Given the description of an element on the screen output the (x, y) to click on. 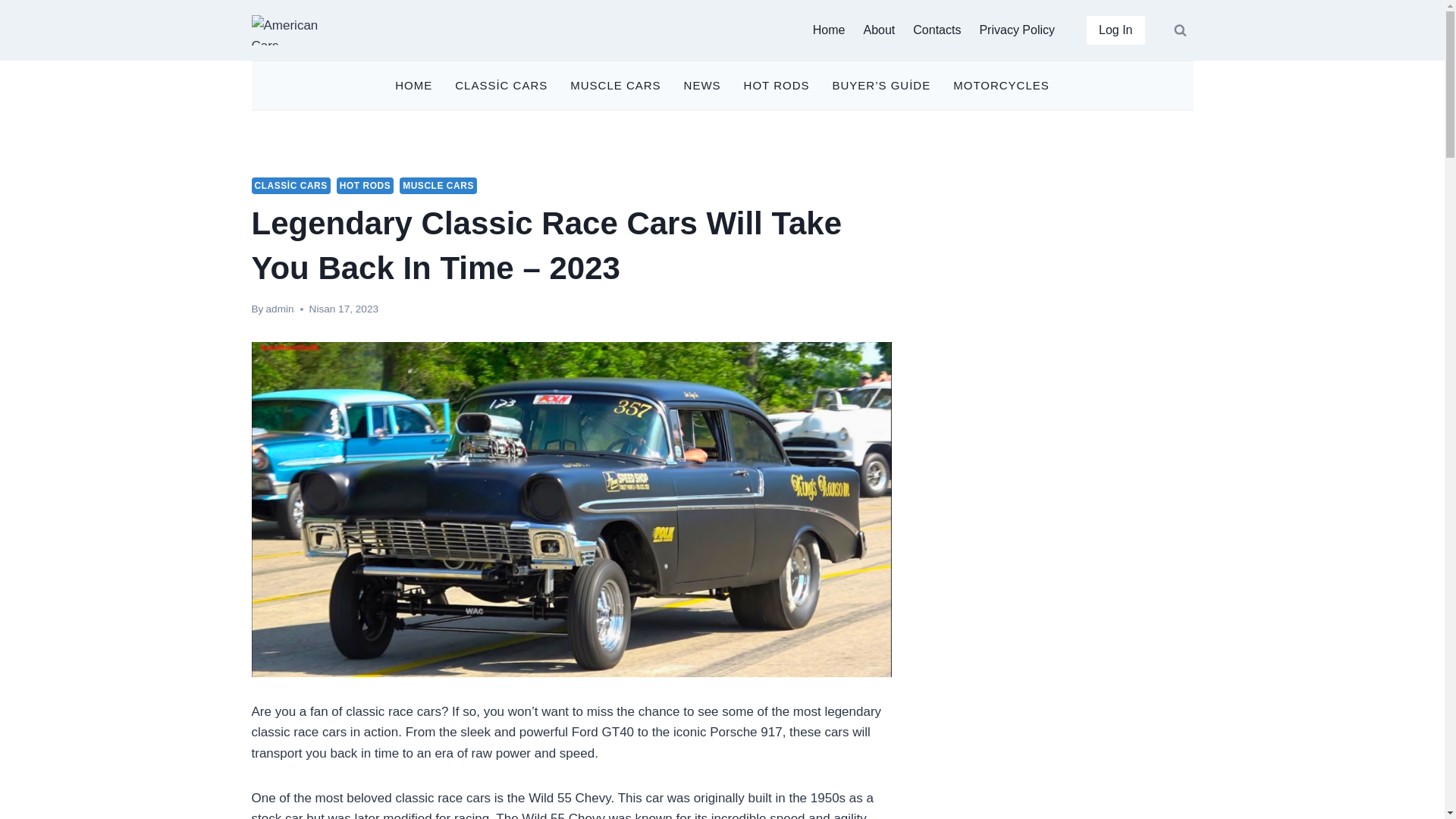
MUSCLE CARS (615, 85)
HOT RODS (365, 185)
CLASSIC CARS (290, 185)
HOME (414, 85)
admin (280, 308)
HOT RODS (776, 85)
NEWS (702, 85)
CLASSIC CARS (501, 85)
Log In (1115, 30)
MUSCLE CARS (437, 185)
